Given the description of an element on the screen output the (x, y) to click on. 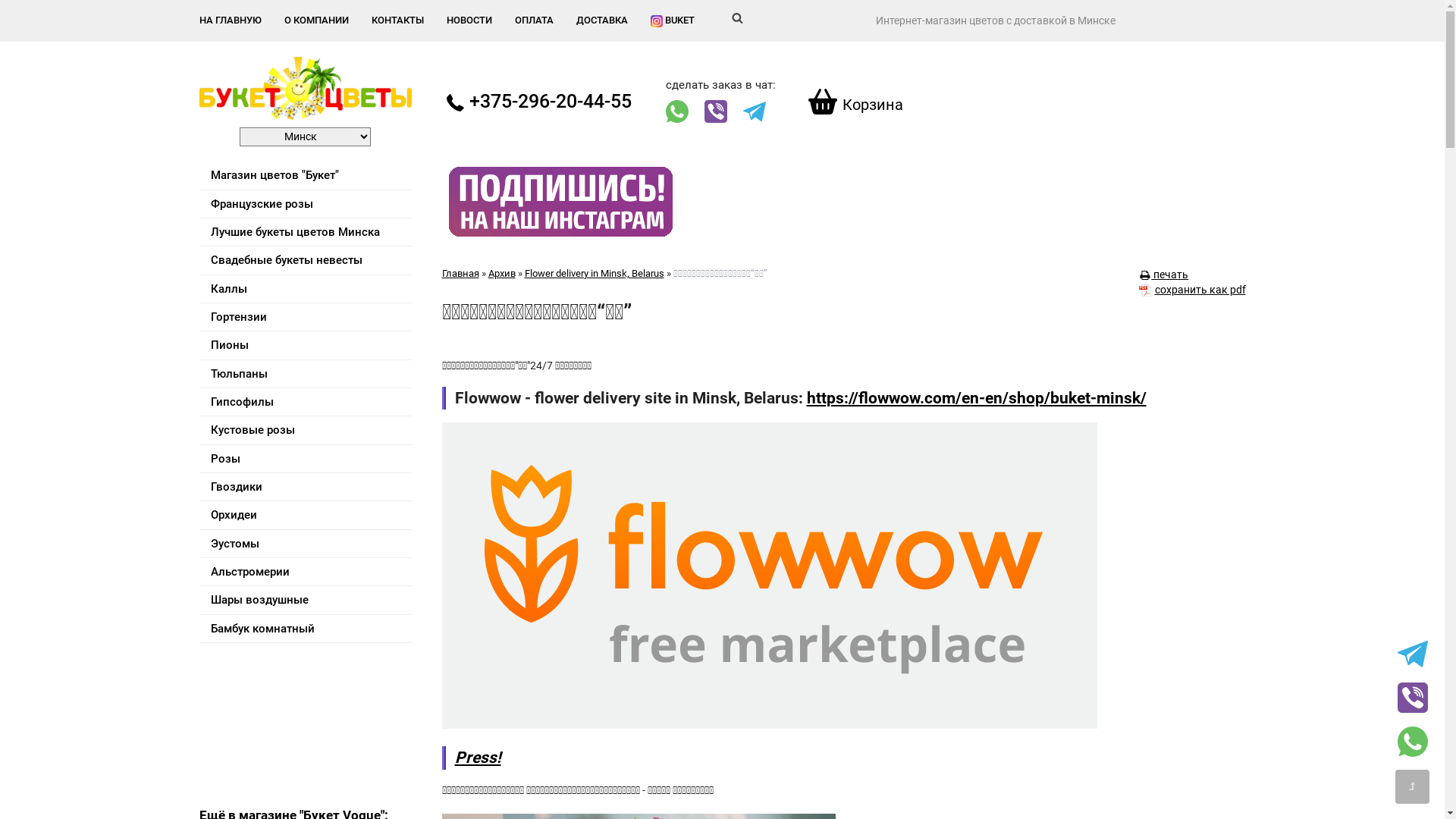
BUKET Element type: text (672, 20)
+375-296-20-44-55 Element type: text (537, 101)
Flower delivery in Minsk, Belarus Element type: text (594, 273)
https://flowwow.com/en-en/shop/buket-minsk/ Element type: text (976, 398)
Press! Element type: text (478, 757)
